Given the description of an element on the screen output the (x, y) to click on. 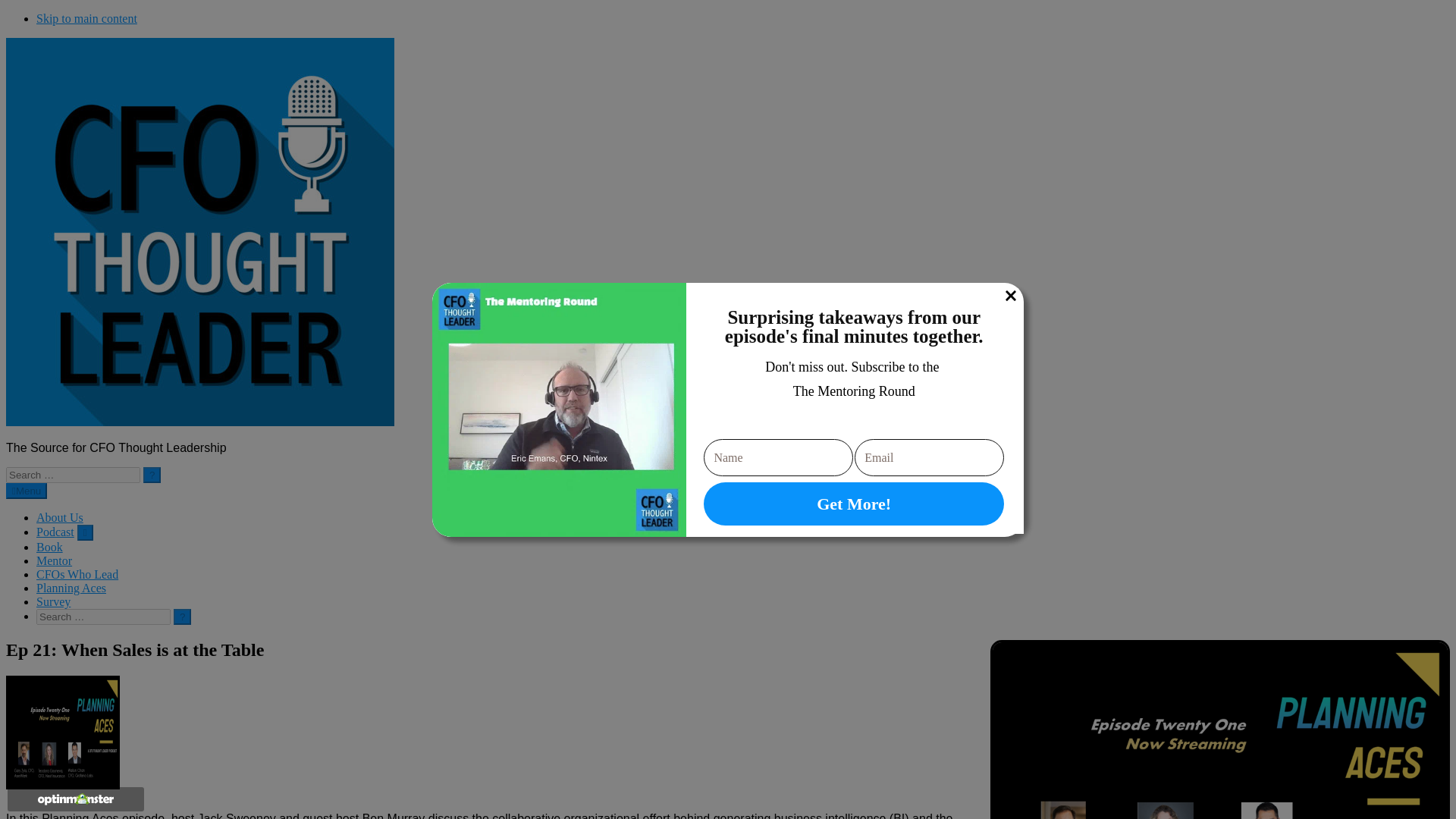
Survey (52, 601)
Submenu (85, 532)
? (181, 616)
? (181, 616)
Search for: (103, 616)
? (181, 616)
Powered by OptinMonster (75, 799)
CFO THOUGHT LEADER (199, 421)
Planning Aces (71, 587)
Survey (52, 601)
About Us (59, 517)
Get More! (853, 503)
Book (49, 546)
The CFO 500 (49, 546)
Mentor (53, 560)
